Given the description of an element on the screen output the (x, y) to click on. 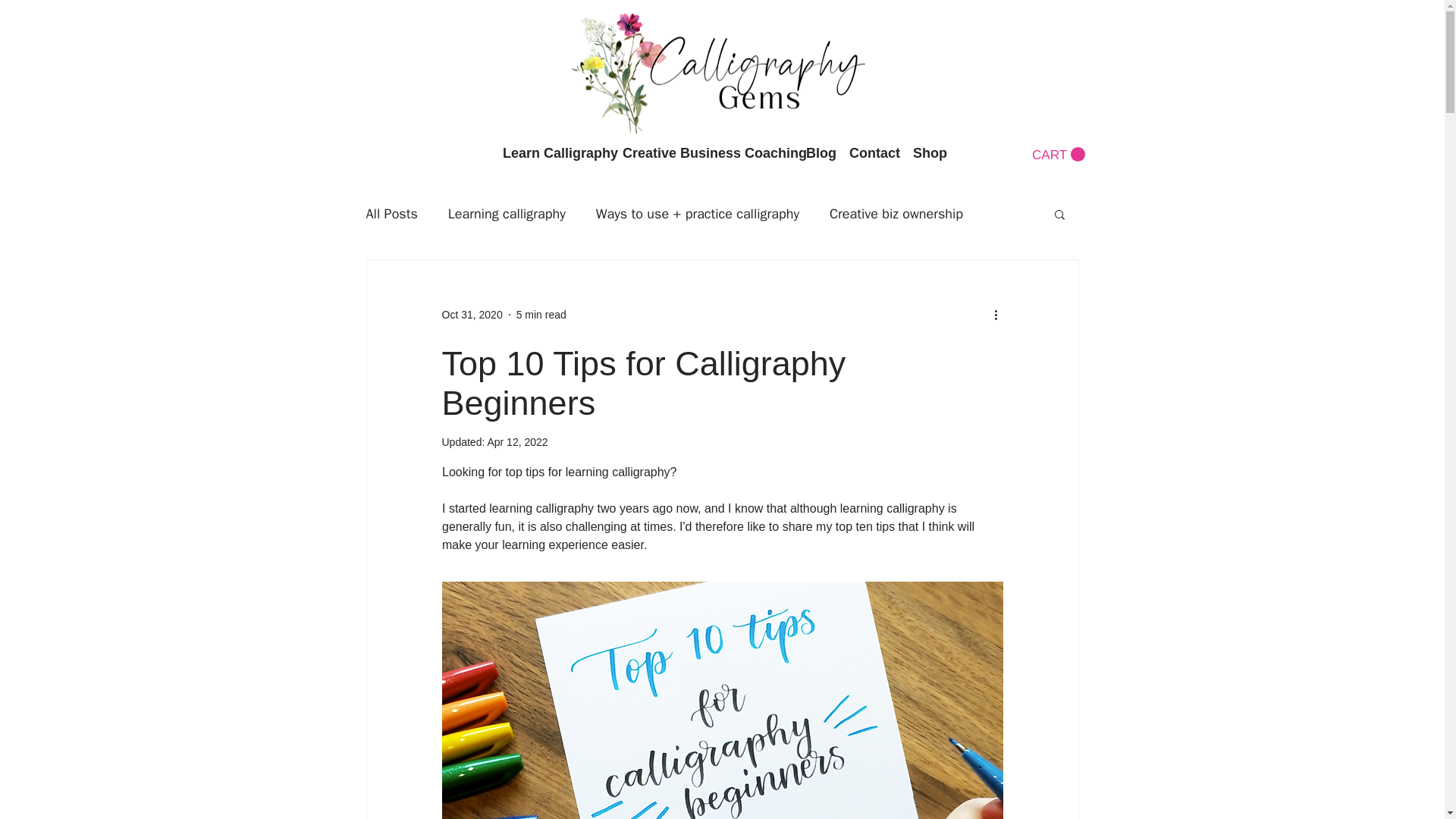
Creative biz ownership (895, 213)
5 min read (541, 313)
CART (1057, 154)
Creative Business Coaching (705, 153)
Learning calligraphy (507, 213)
Apr 12, 2022 (516, 441)
Oct 31, 2020 (471, 313)
Blog (819, 153)
Learn Calligraphy (554, 153)
CART (1057, 154)
